Given the description of an element on the screen output the (x, y) to click on. 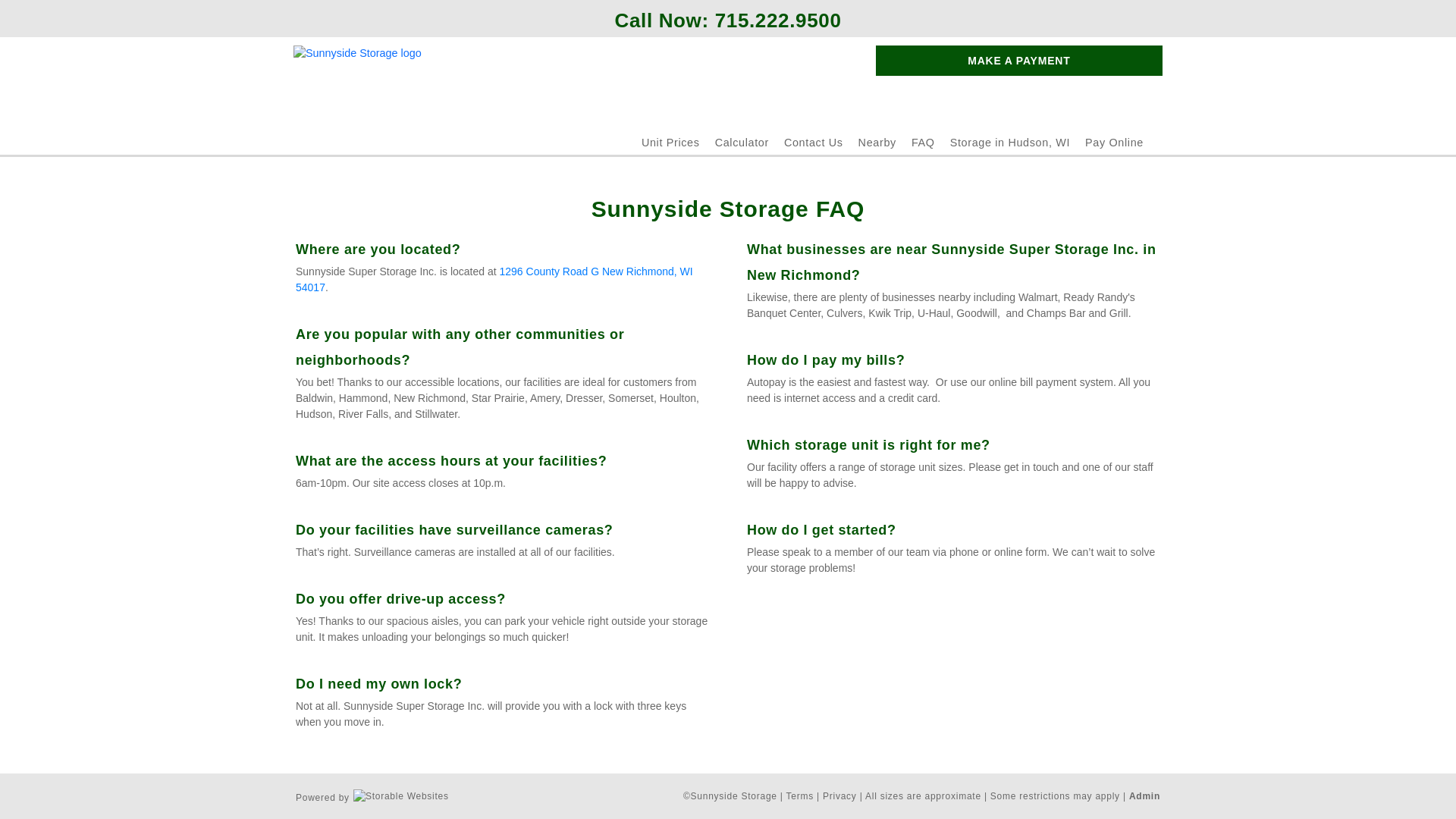
Calculator (741, 142)
Pay Online (1113, 142)
Terms (799, 796)
715.222.9500 (777, 20)
Unit Prices (671, 142)
Powered by (371, 795)
Sunnyside Storage logo (358, 83)
Admin (1144, 796)
1296 County Road G New Richmond, WI 54017 (495, 279)
FAQ (922, 142)
MAKE A PAYMENT (1018, 60)
Privacy (839, 796)
Nearby (877, 142)
Storage in Hudson, WI (1010, 142)
Contact Us (813, 142)
